Given the description of an element on the screen output the (x, y) to click on. 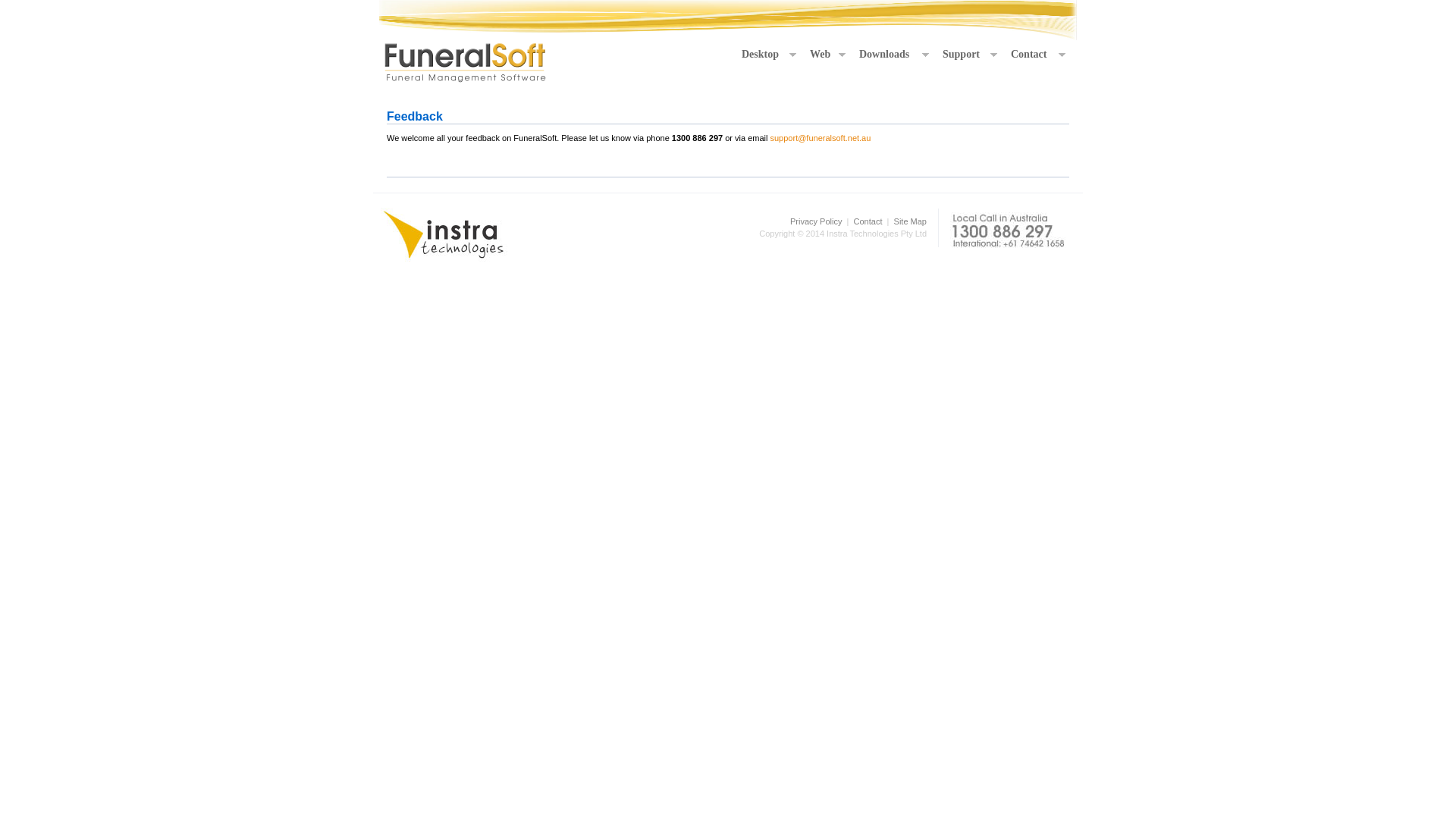
Web Element type: text (826, 54)
Instra Technologies Pty Ltd Element type: hover (443, 234)
Site Map Element type: text (910, 220)
support@funeralsoft.net.au Element type: text (820, 137)
Contact Element type: text (1037, 54)
Contact Element type: text (867, 220)
Privacy Policy Element type: text (815, 220)
Support Element type: text (969, 54)
Desktop Element type: text (768, 54)
Downloads Element type: text (893, 54)
